Given the description of an element on the screen output the (x, y) to click on. 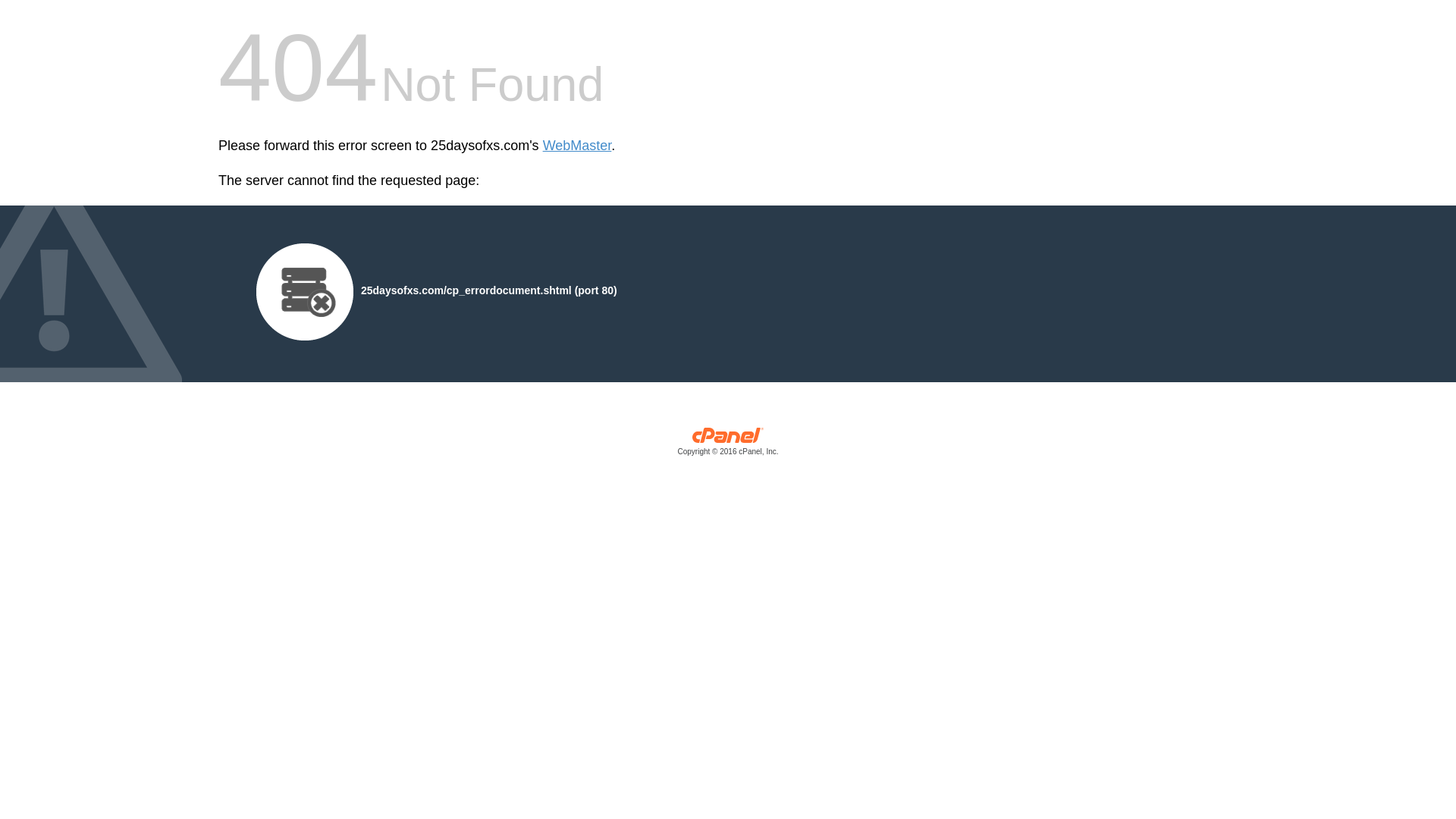
WebMaster Element type: text (576, 145)
